Given the description of an element on the screen output the (x, y) to click on. 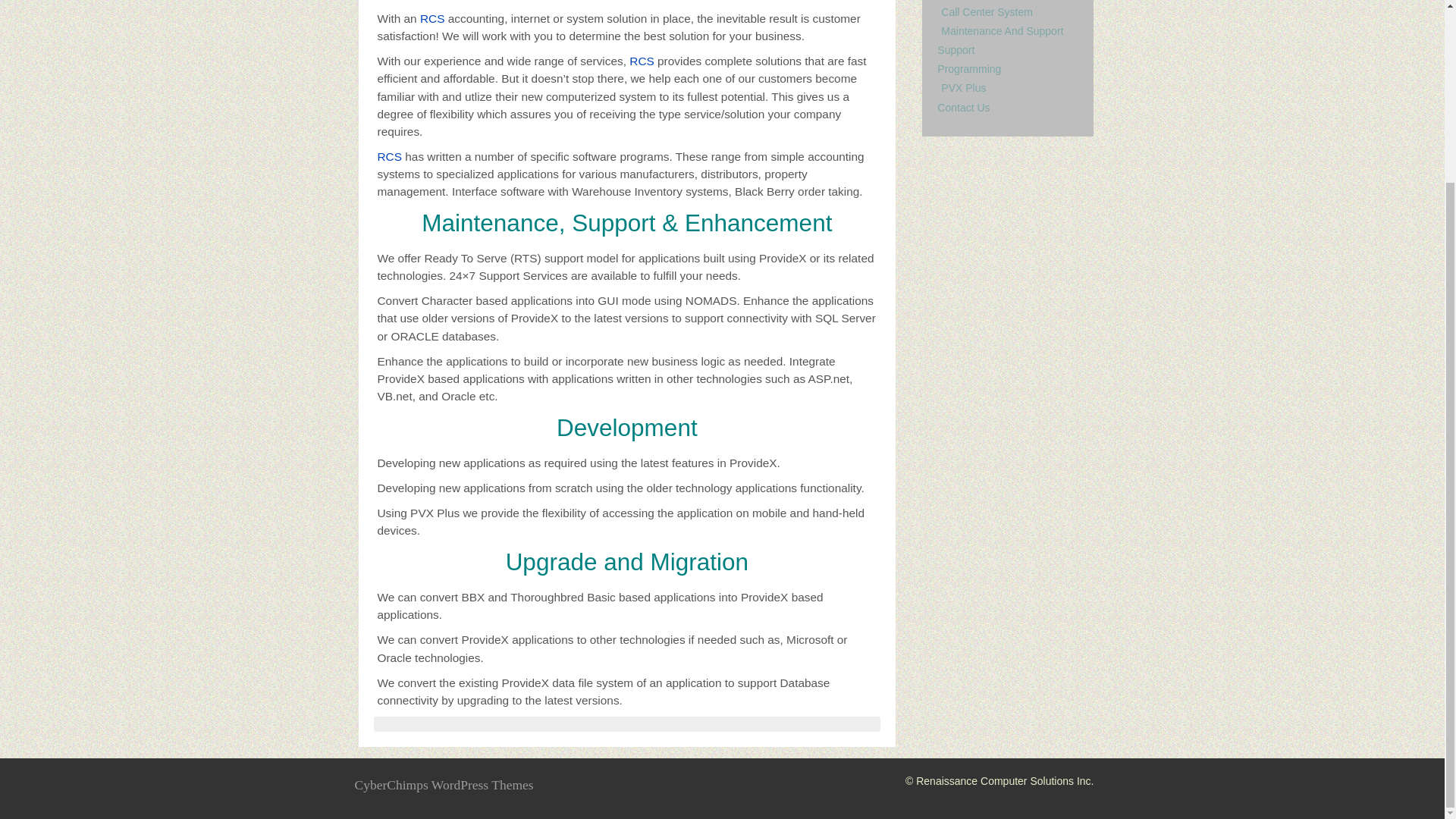
Maintenance And Support (1001, 30)
Programming (969, 69)
PVX Plus (962, 87)
Support (955, 50)
Call Center System (986, 11)
Contact Us (963, 107)
